Given the description of an element on the screen output the (x, y) to click on. 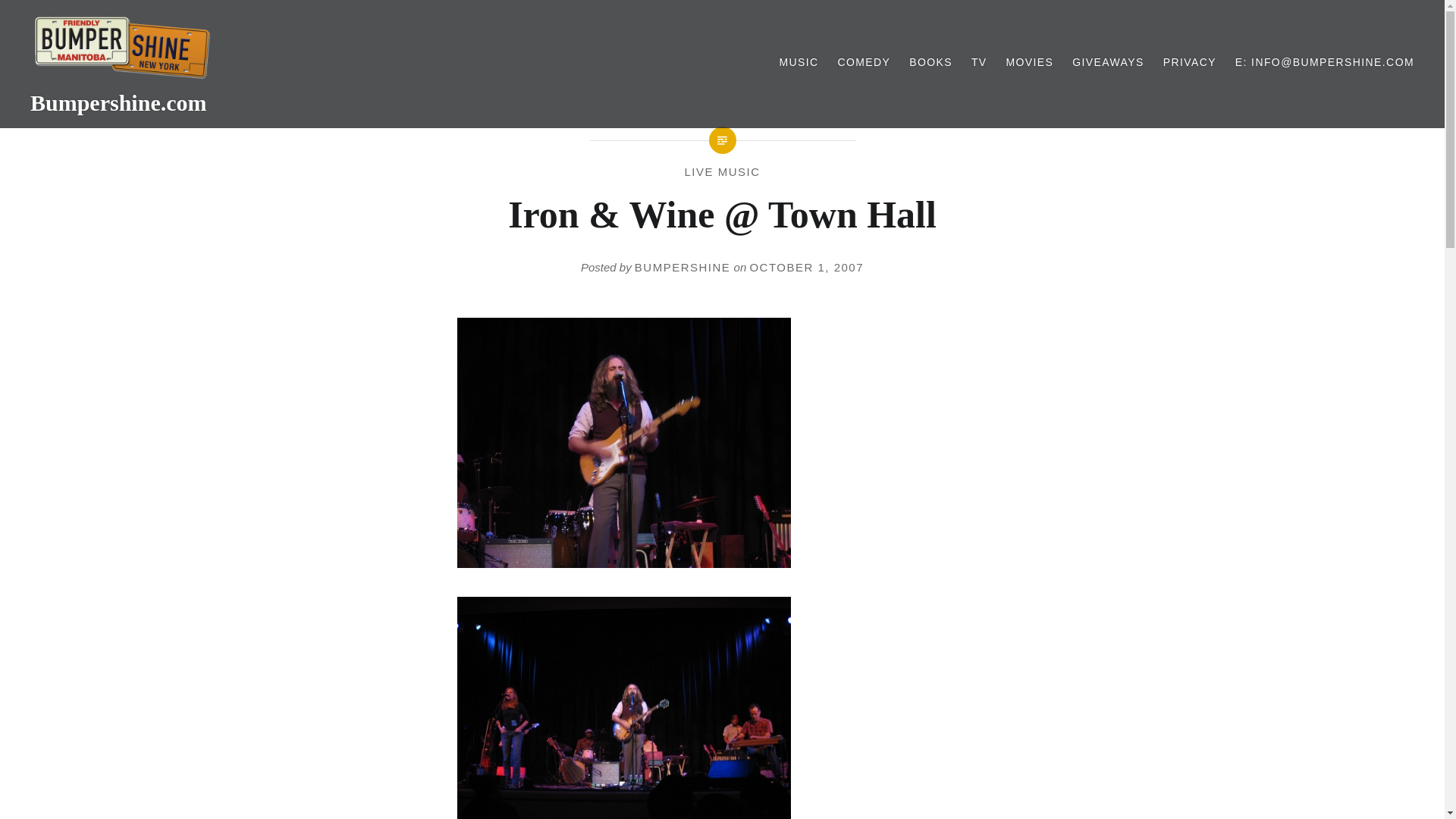
Search (578, 19)
BOOKS (930, 62)
MUSIC (798, 62)
LIVE MUSIC (722, 171)
Bumpershine.com (118, 102)
BUMPERSHINE (682, 267)
OCTOBER 1, 2007 (806, 267)
COMEDY (863, 62)
MOVIES (1029, 62)
GIVEAWAYS (1107, 62)
